Given the description of an element on the screen output the (x, y) to click on. 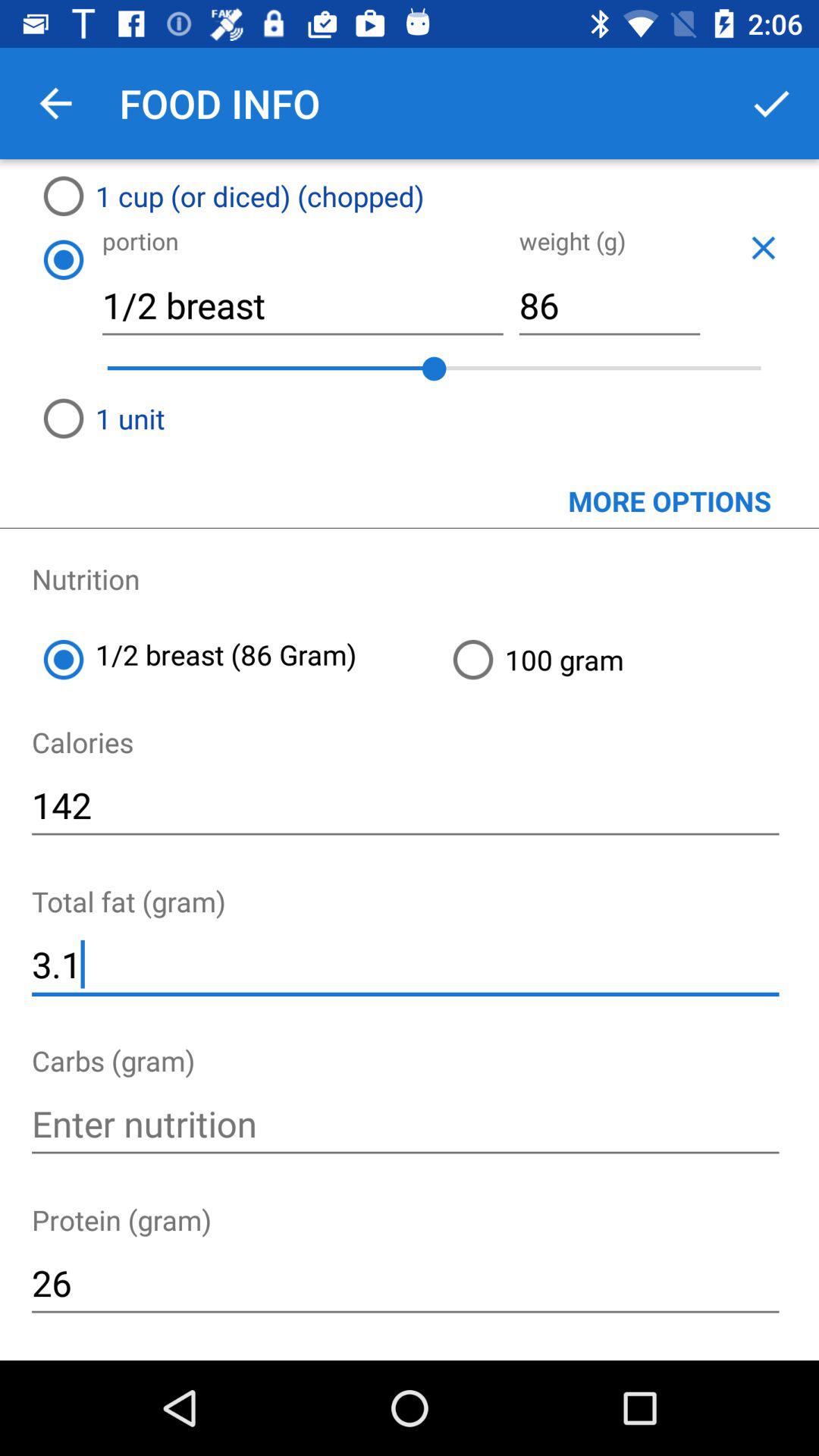
click icon next to the 1/2 breast (62, 259)
